Given the description of an element on the screen output the (x, y) to click on. 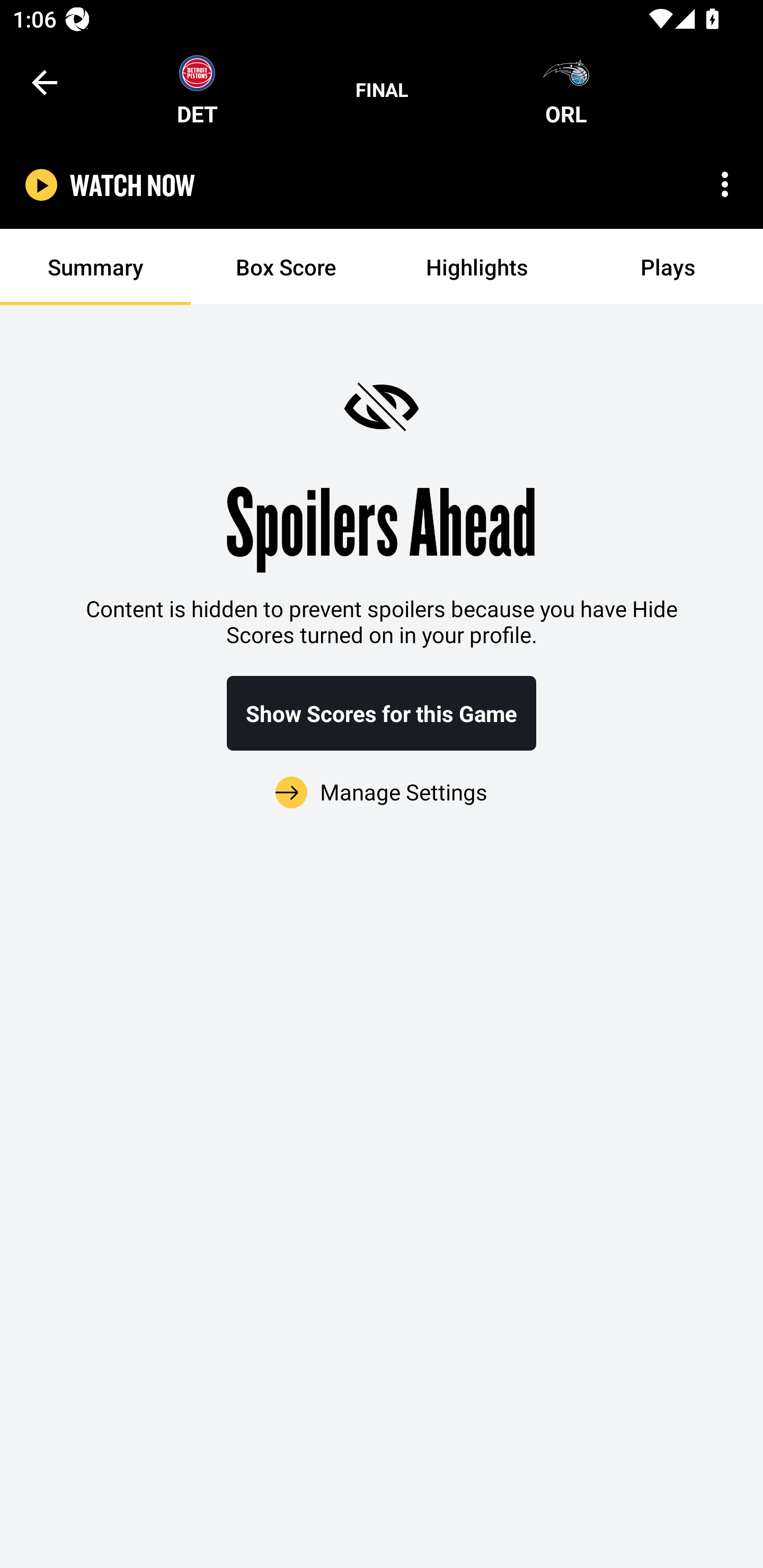
Navigate up (44, 82)
More options (724, 183)
WATCH NOW (132, 184)
Box Score (285, 266)
Highlights (476, 266)
Plays (667, 266)
Show Scores for this Game (381, 713)
Manage Settings (381, 781)
